Given the description of an element on the screen output the (x, y) to click on. 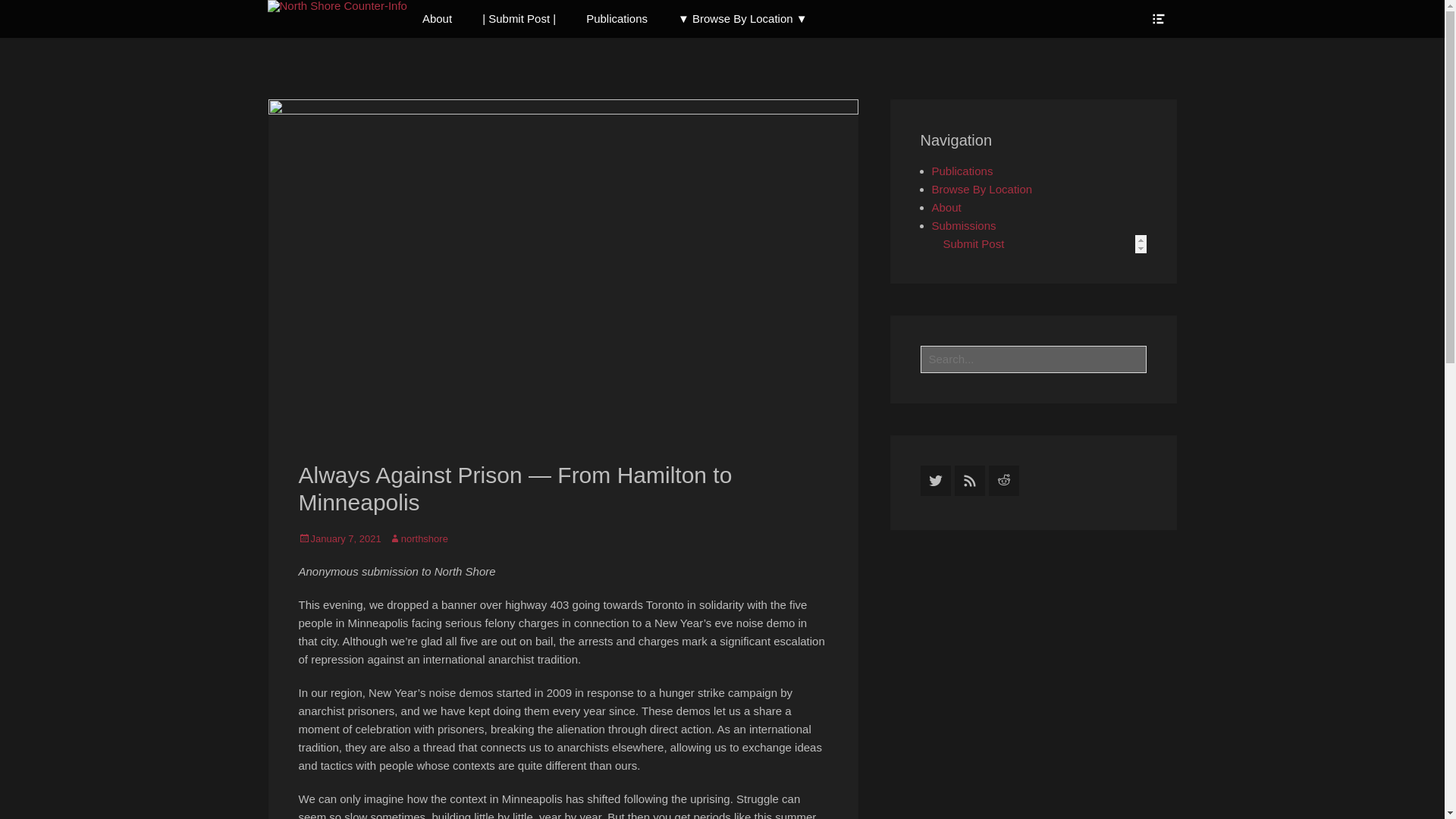
northshore (418, 538)
Twitter (935, 481)
Search for: (1033, 359)
Show Header Sidebar Content (1157, 18)
Reddit (1003, 481)
Publications (616, 18)
North Shore Counter-Info (904, 85)
January 7, 2021 (339, 538)
North Shore Counter-Info (336, 6)
Feed (968, 481)
